Given the description of an element on the screen output the (x, y) to click on. 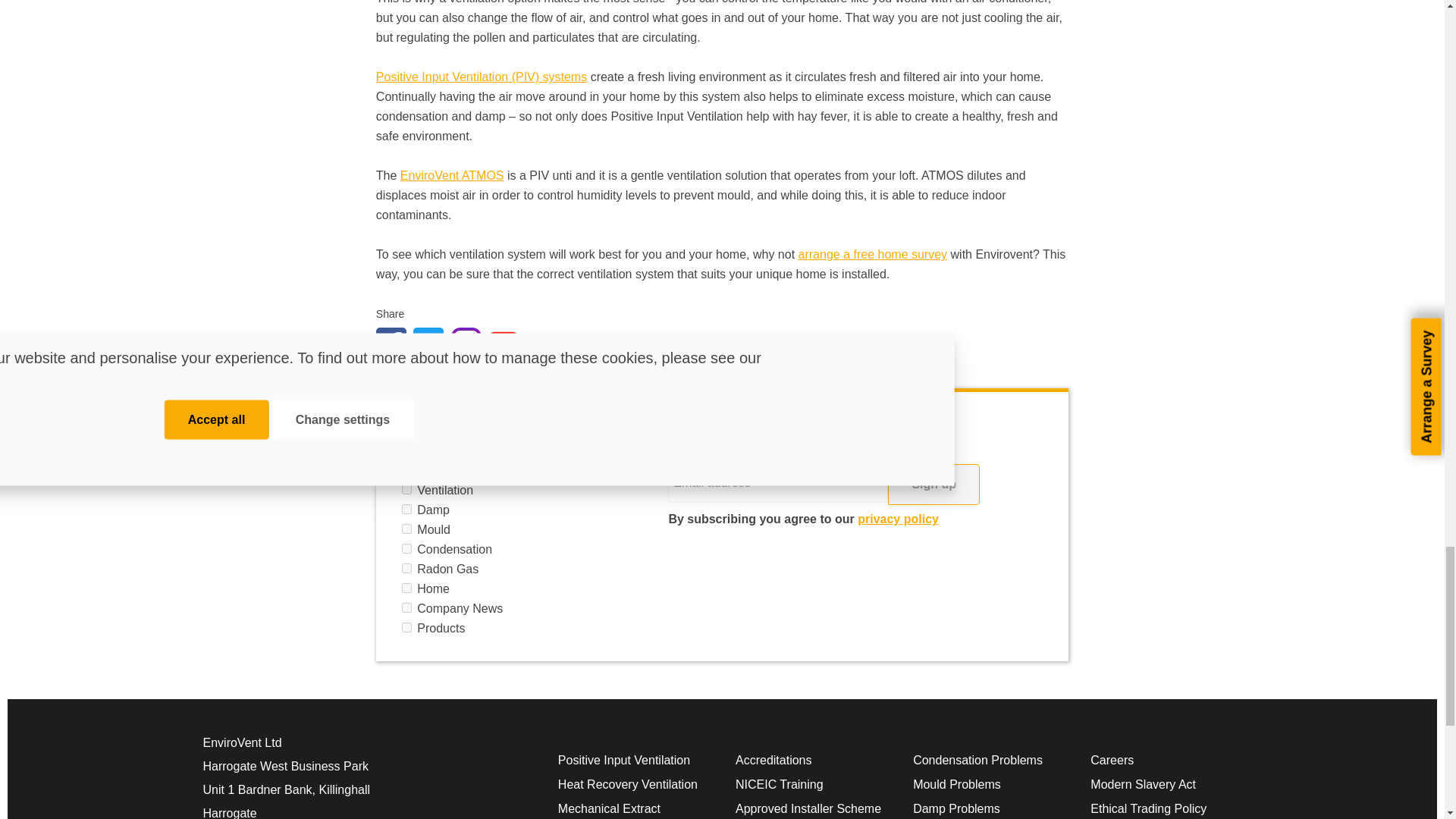
Damp (406, 509)
Radon Gas (406, 568)
New Build (406, 450)
Products (406, 627)
Home (406, 587)
Mould (406, 528)
Allergies (406, 470)
Company News (406, 607)
Condensation (406, 548)
Ventilation (406, 489)
